Given the description of an element on the screen output the (x, y) to click on. 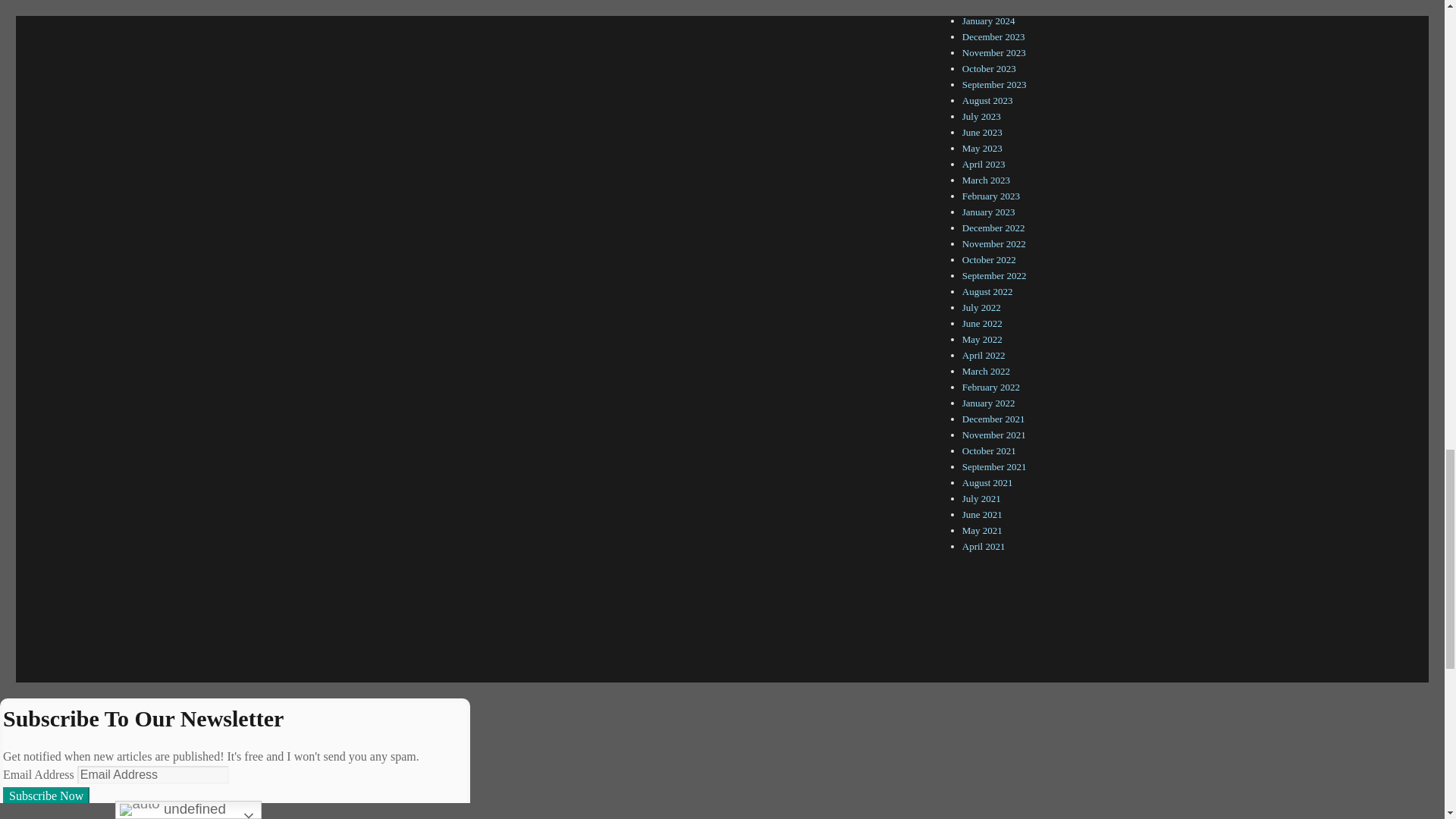
Subscribe Now (45, 796)
